Given the description of an element on the screen output the (x, y) to click on. 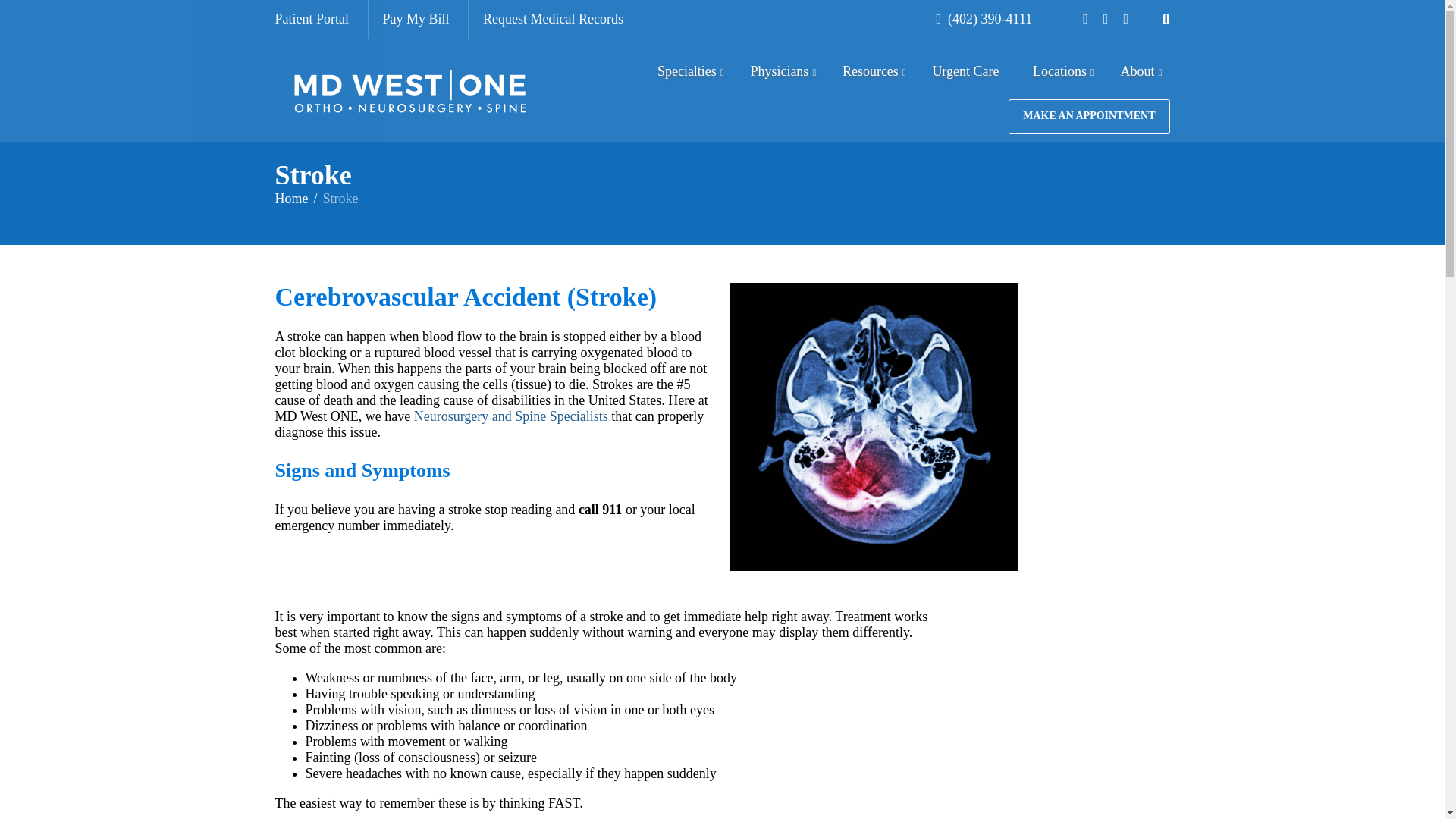
Request Medical Records (319, 19)
Urgent Care (553, 19)
